Given the description of an element on the screen output the (x, y) to click on. 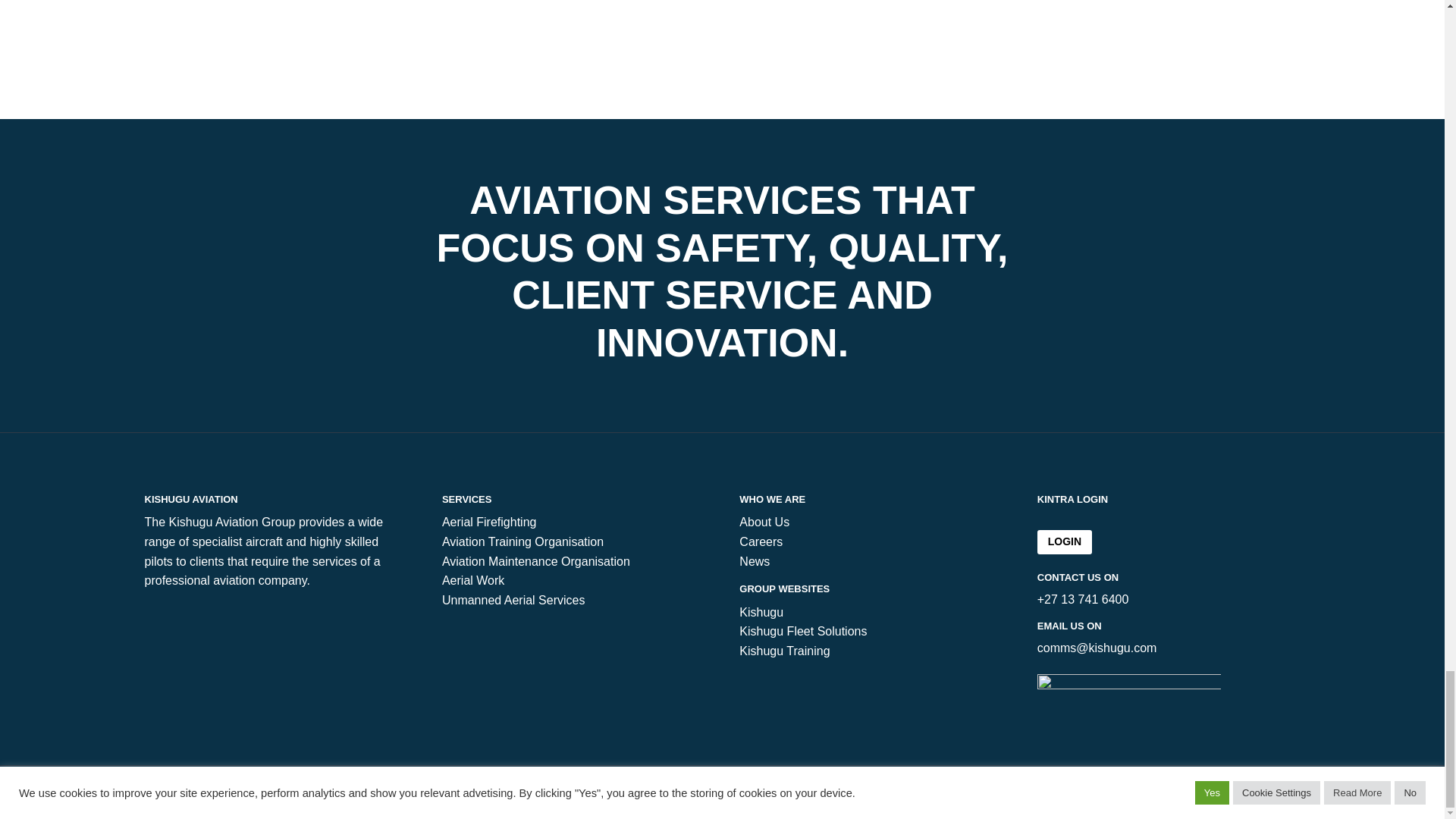
covid-19 (1128, 689)
Follow on X (1377, 793)
Follow on Facebook (1346, 793)
